Given the description of an element on the screen output the (x, y) to click on. 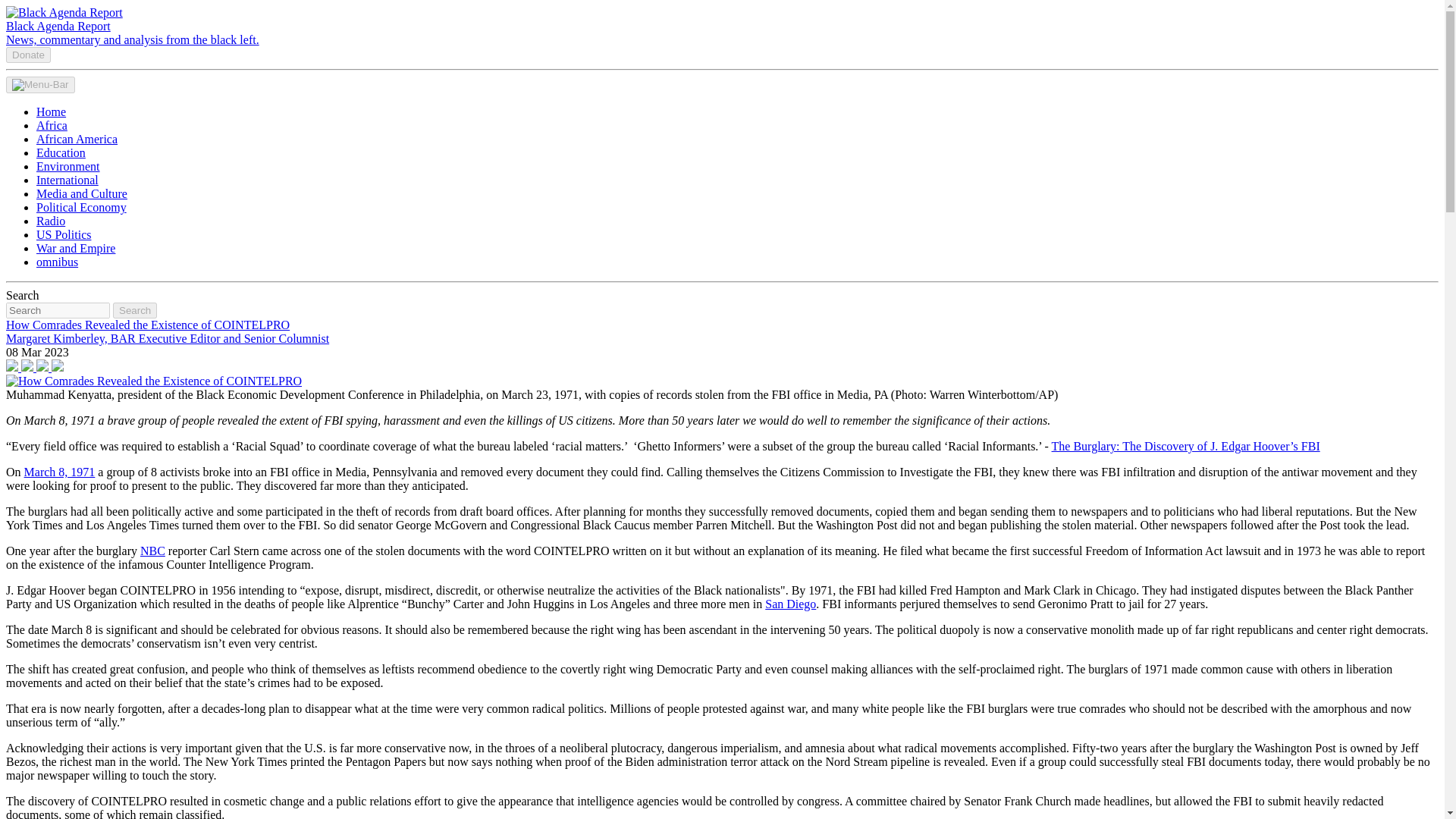
US Politics (63, 234)
NBC (152, 550)
Donate (27, 54)
Political Economy (81, 206)
Home (50, 111)
War and Empire (75, 247)
Search (135, 310)
San Diego (790, 603)
African America (76, 138)
